Given the description of an element on the screen output the (x, y) to click on. 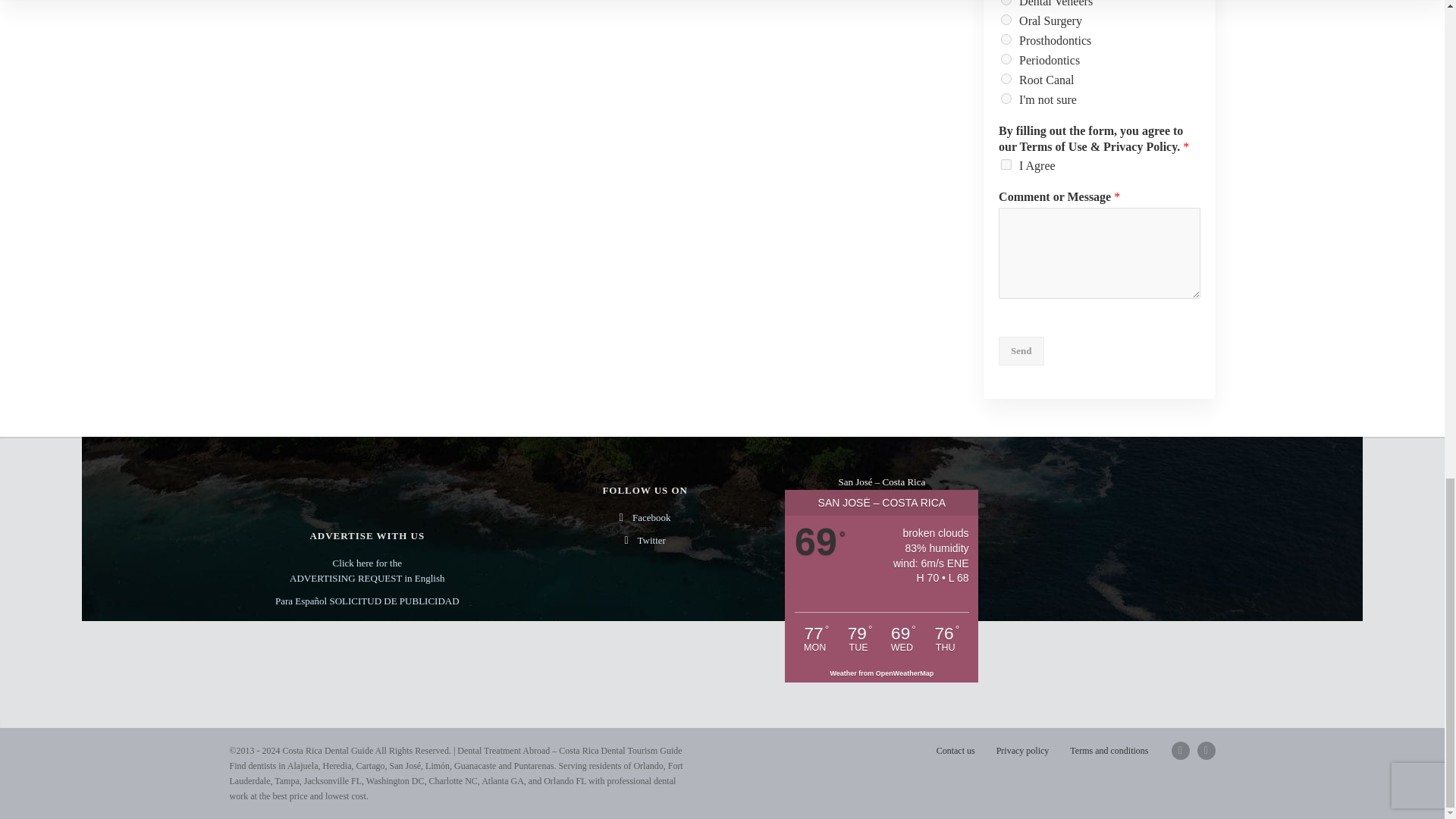
Prosthodontics (1006, 39)
Dental Veneers (1006, 2)
Oral Surgery (1006, 19)
Periodontics (1006, 59)
